Given the description of an element on the screen output the (x, y) to click on. 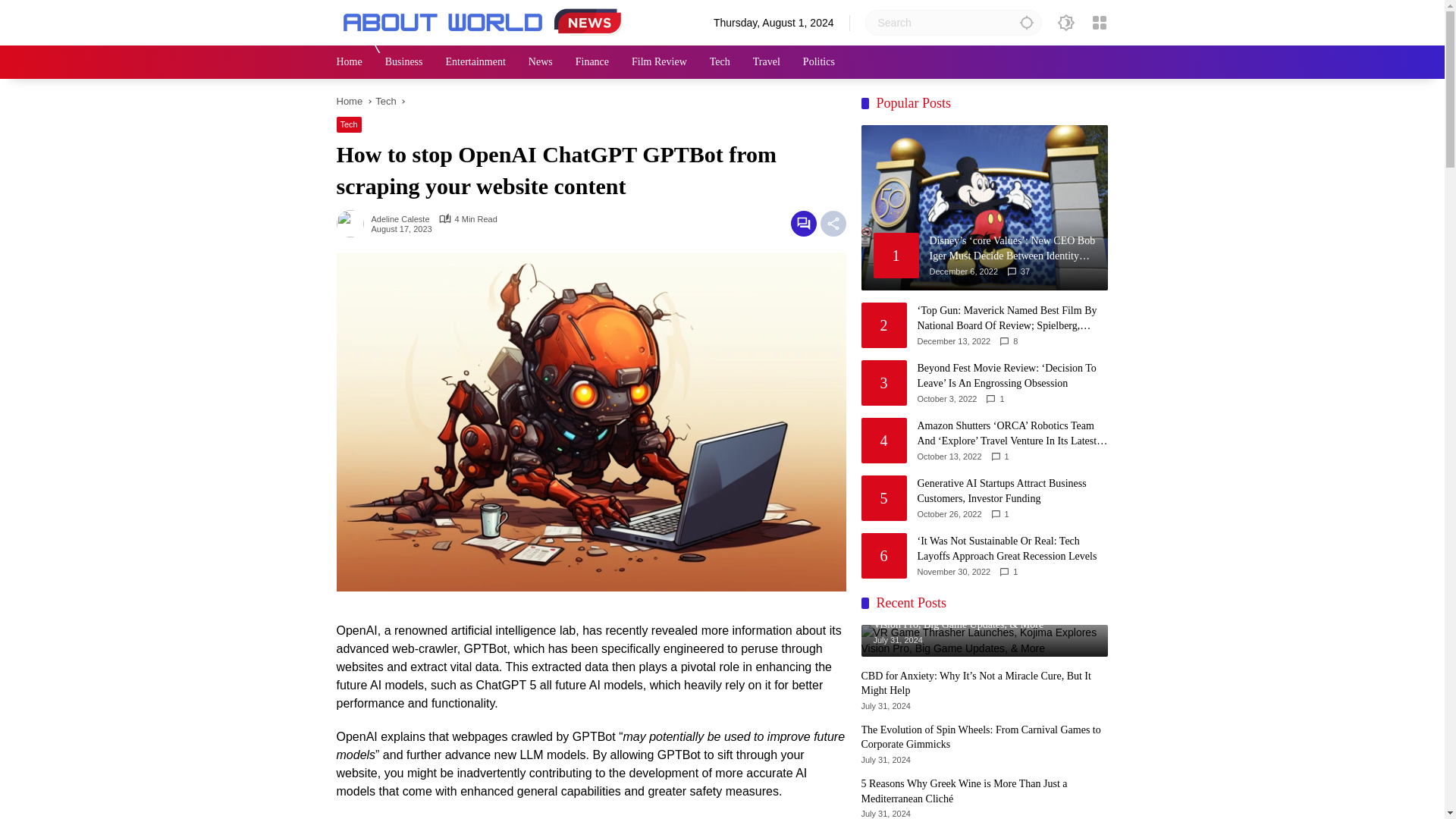
Tech (385, 101)
Adeline Caleste (400, 219)
Tech (348, 124)
View all posts in Tech (348, 124)
Politics (818, 61)
Entertainment (475, 61)
Finance (591, 61)
Film Review (659, 61)
Business (404, 61)
Permalink to: Adeline Caleste (353, 222)
About World News (485, 21)
Adeline Caleste (400, 219)
Home (349, 101)
